Given the description of an element on the screen output the (x, y) to click on. 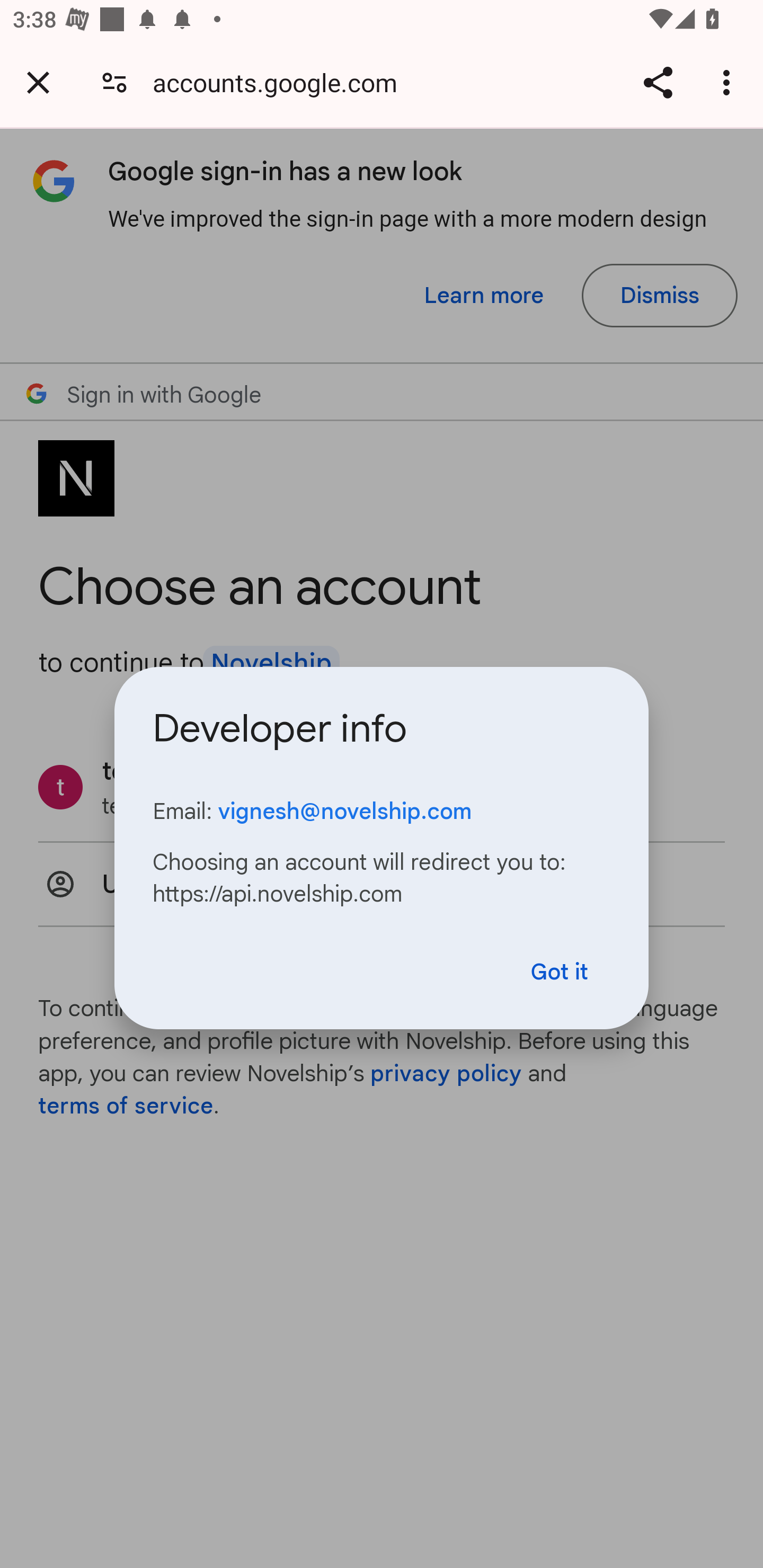
Close tab (38, 82)
Share (657, 82)
Customize and control Google Chrome (729, 82)
Connection is secure (114, 81)
accounts.google.com (281, 81)
vignesh@novelship.com (344, 811)
Got it (559, 972)
